Given the description of an element on the screen output the (x, y) to click on. 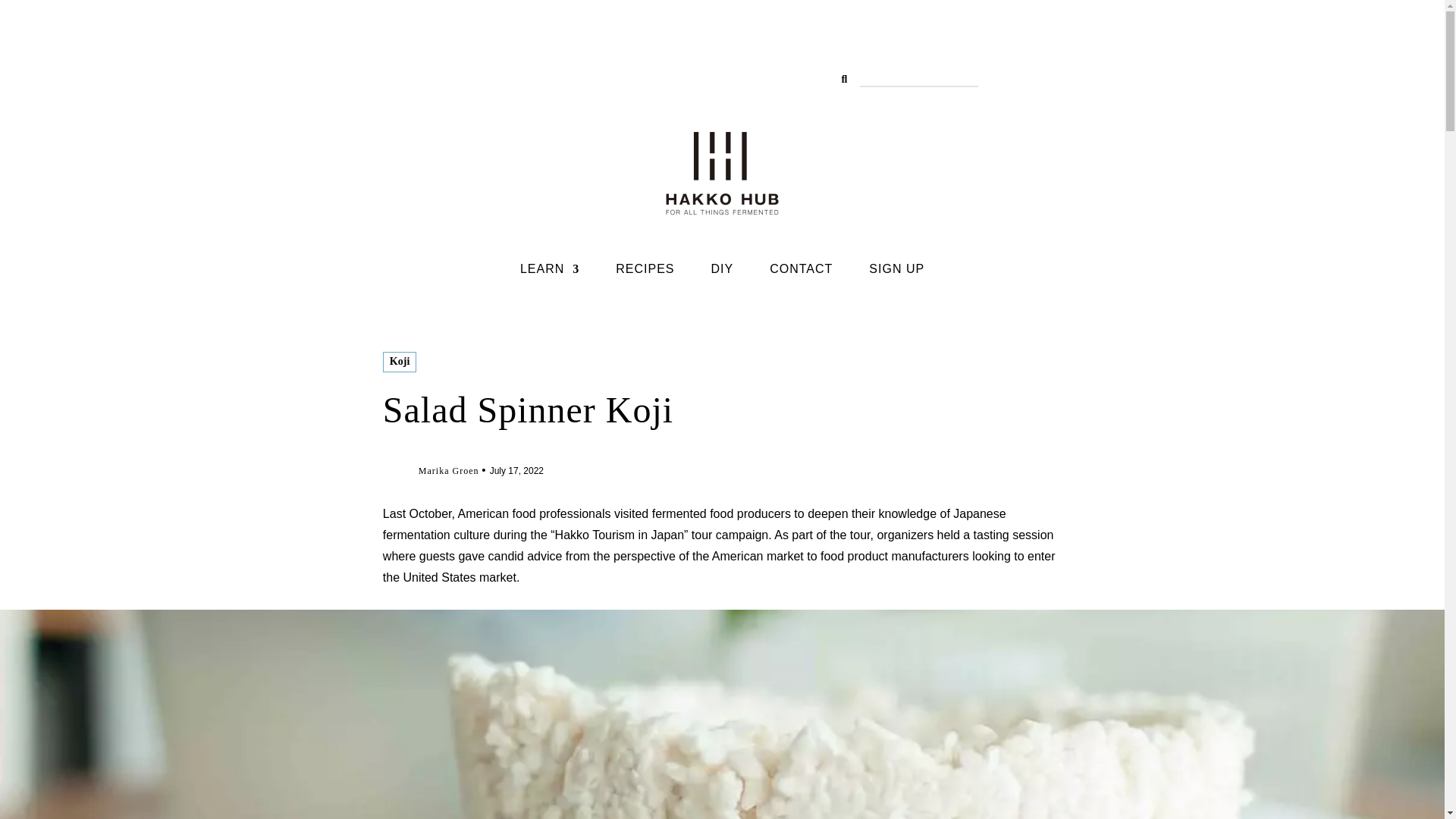
Search (21, 12)
CONTACT (801, 271)
RECIPES (644, 271)
LEARN (549, 271)
SIGN UP (896, 271)
HAKKO HUB for all things fermented (721, 173)
DIY (722, 271)
